Given the description of an element on the screen output the (x, y) to click on. 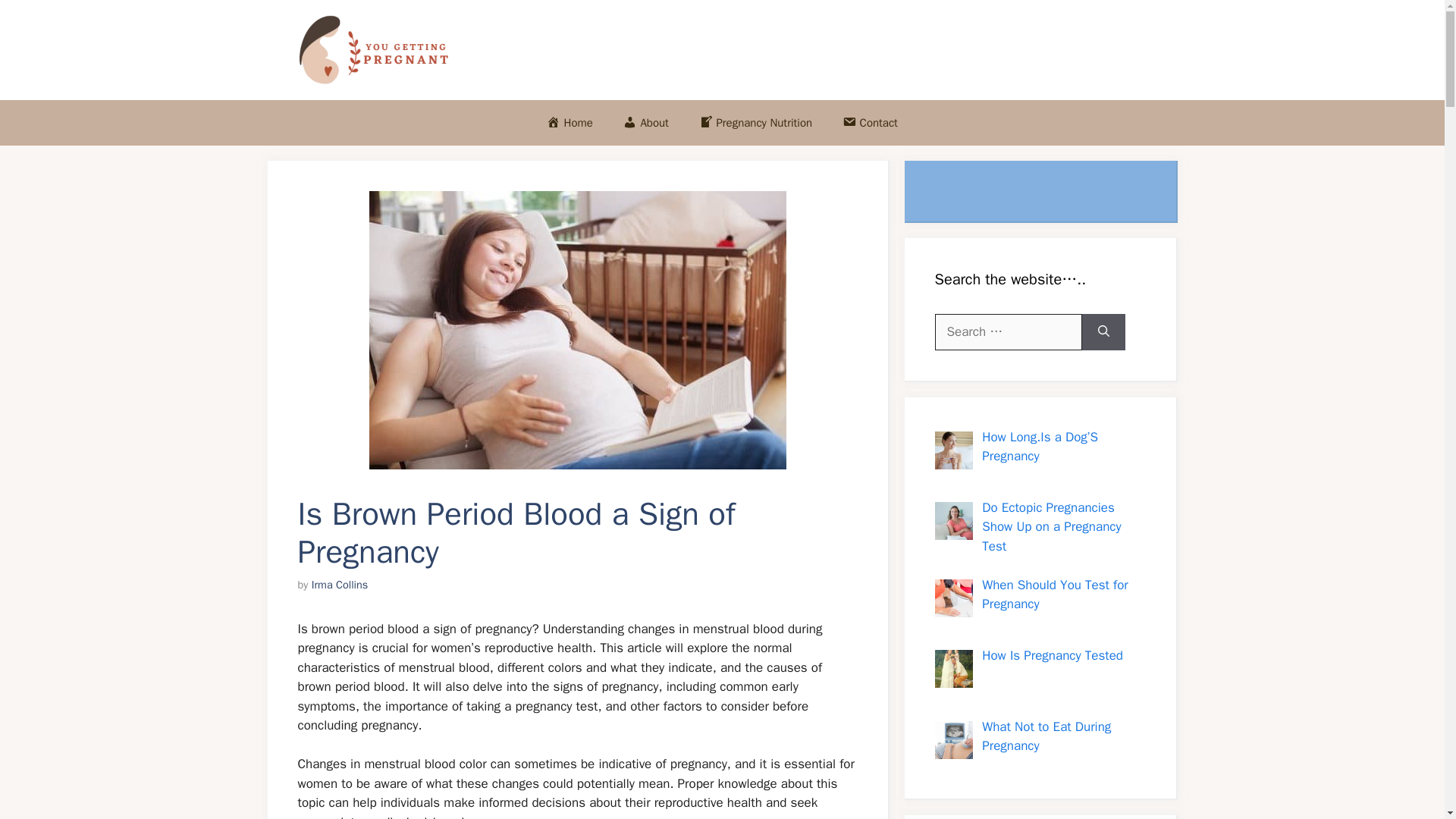
Home (569, 122)
About (646, 122)
Is Brown Period Blood a Sign of Pregnancy (577, 329)
View all posts by Irma Collins (339, 584)
Irma Collins (339, 584)
Contact (869, 122)
Pregnancy Nutrition (755, 122)
